Given the description of an element on the screen output the (x, y) to click on. 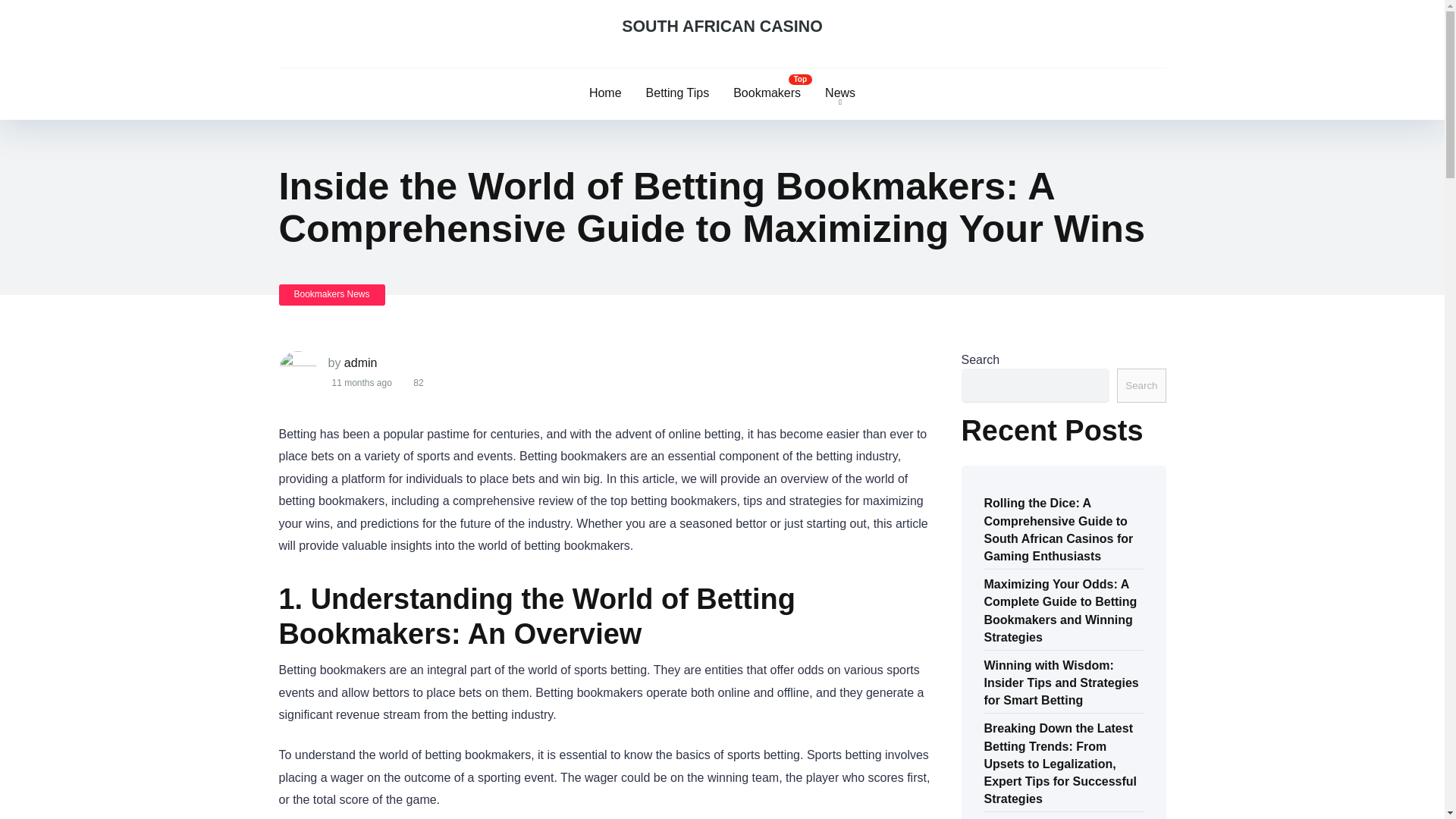
Bookmakers News (332, 294)
News (839, 93)
Betting Tips (677, 93)
admin (360, 362)
Home (604, 93)
Search (1141, 385)
South African Casino (721, 26)
Bookmakers (766, 93)
SOUTH AFRICAN CASINO (721, 26)
Posts by admin (360, 362)
